Given the description of an element on the screen output the (x, y) to click on. 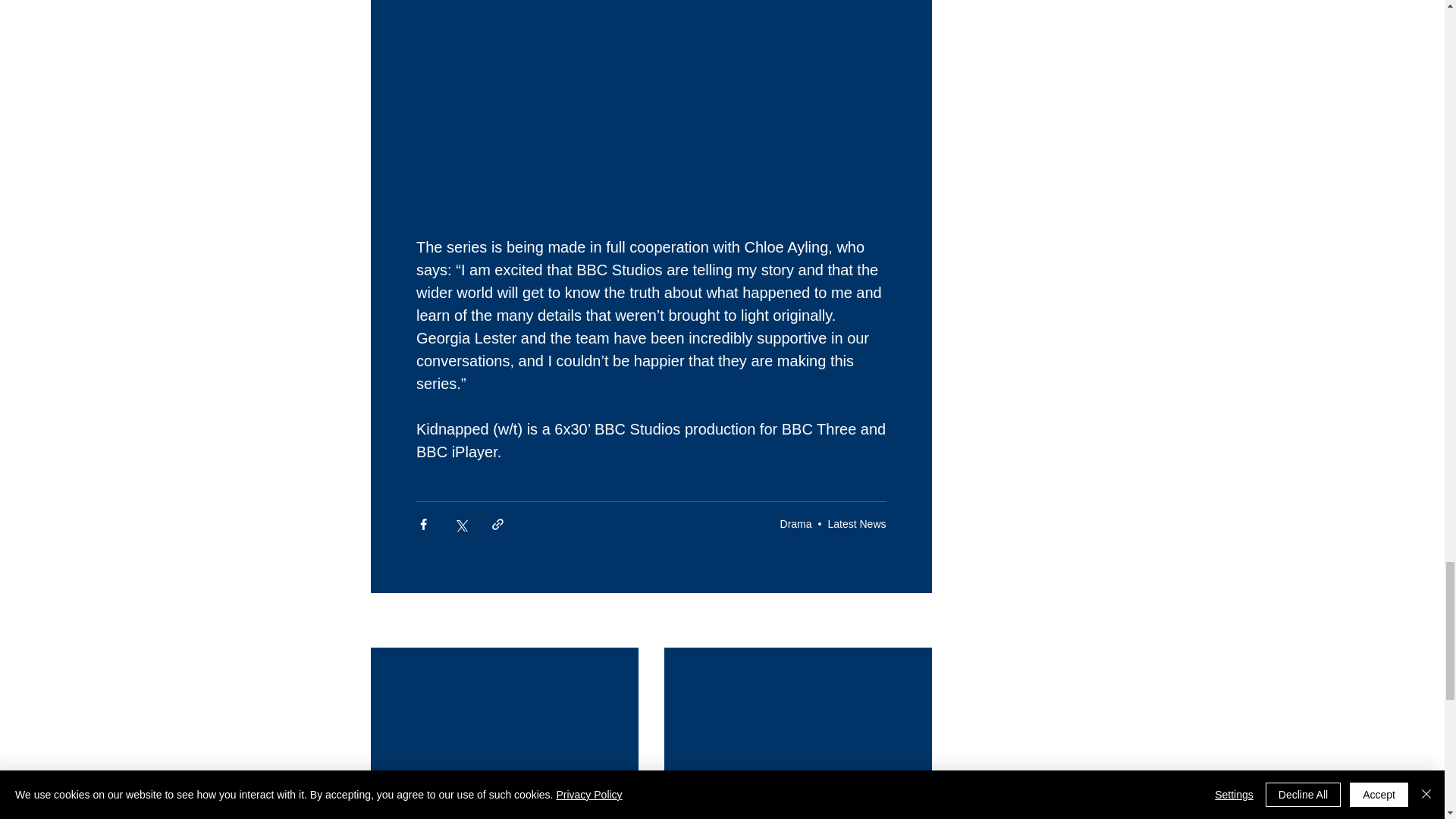
Latest News (856, 523)
See All (914, 620)
Drama (796, 523)
